Given the description of an element on the screen output the (x, y) to click on. 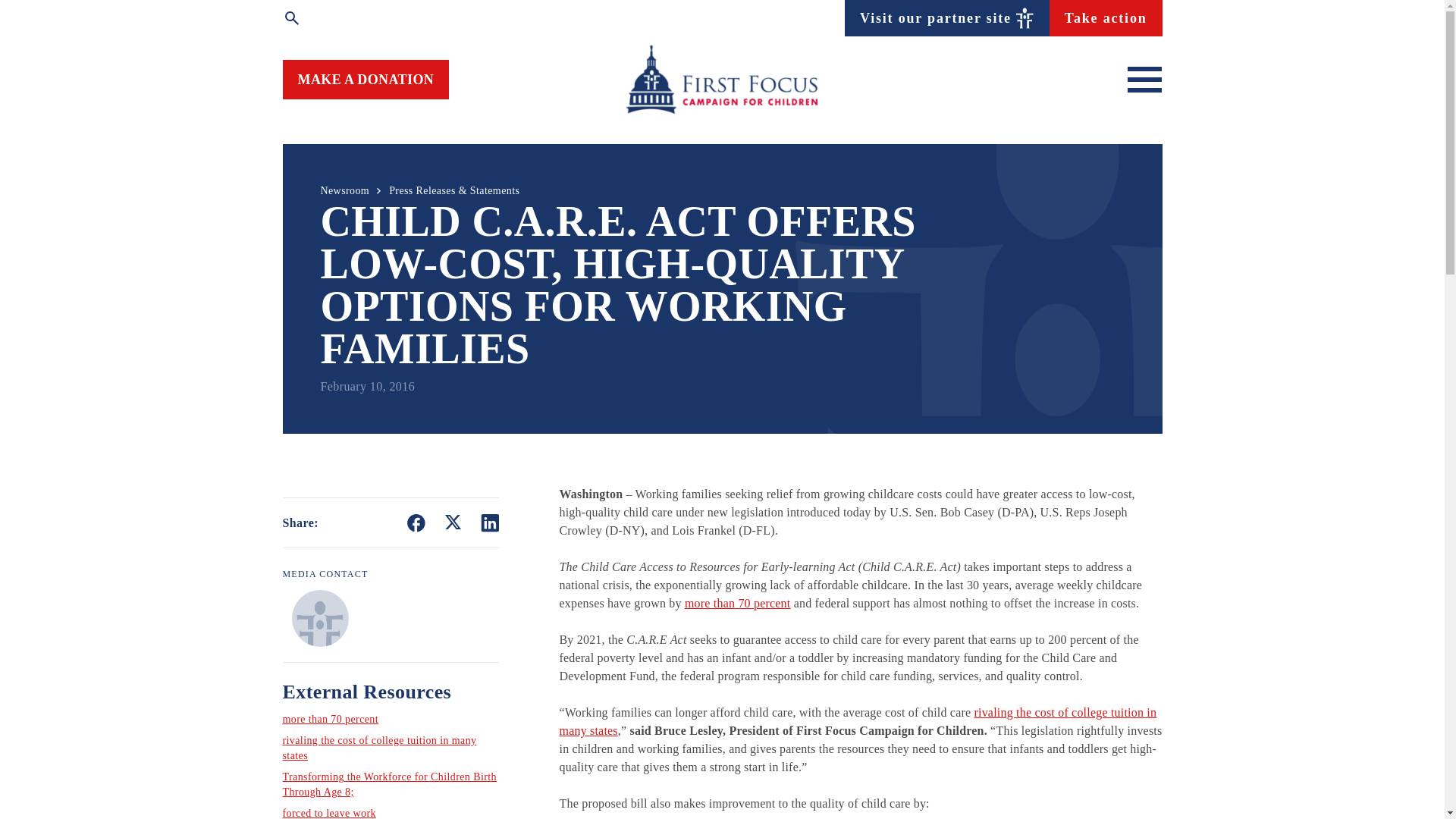
Visit our partner site (946, 17)
MAKE A DONATION (365, 79)
Take action (1105, 17)
